Given the description of an element on the screen output the (x, y) to click on. 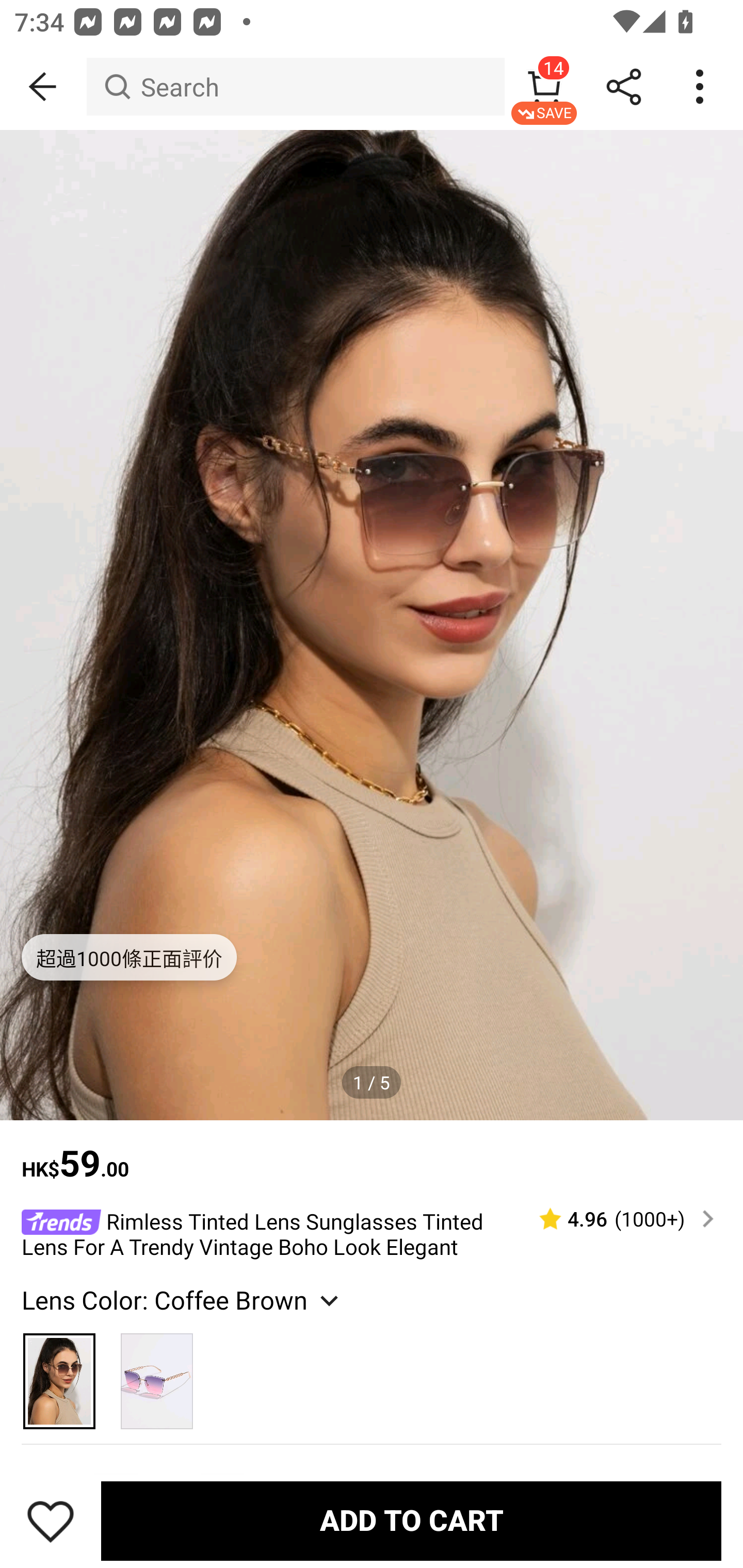
BACK (43, 86)
14 SAVE (543, 87)
Search (295, 87)
1 / 5 (371, 1082)
HK$59.00 (371, 1152)
4.96 (1000‎+) (617, 1219)
Lens Color: Coffee Brown (182, 1299)
Coffee Brown (59, 1373)
Pink (156, 1373)
ADD TO CART (411, 1520)
Save (50, 1520)
